Given the description of an element on the screen output the (x, y) to click on. 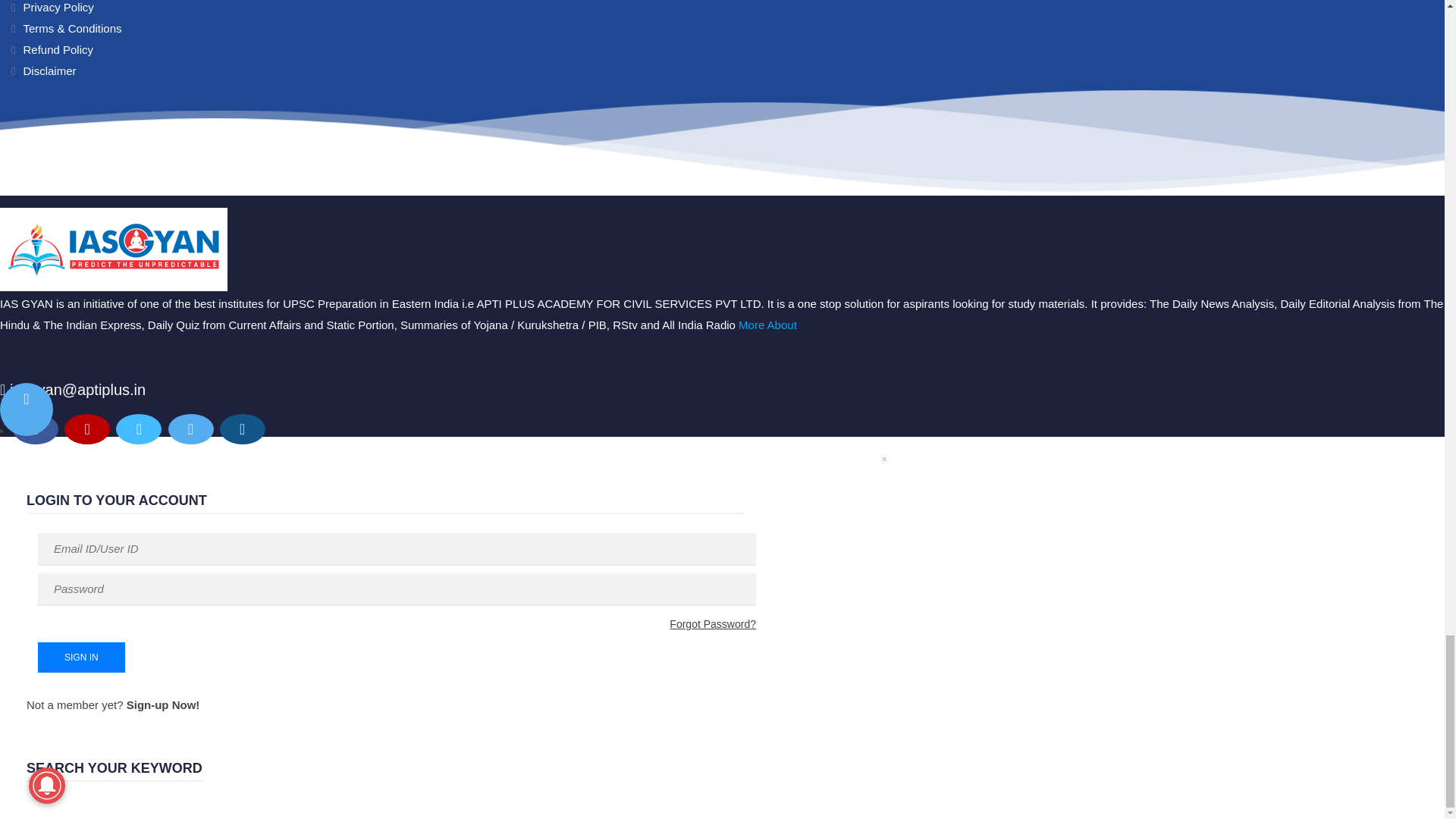
Sign In (81, 657)
